Given the description of an element on the screen output the (x, y) to click on. 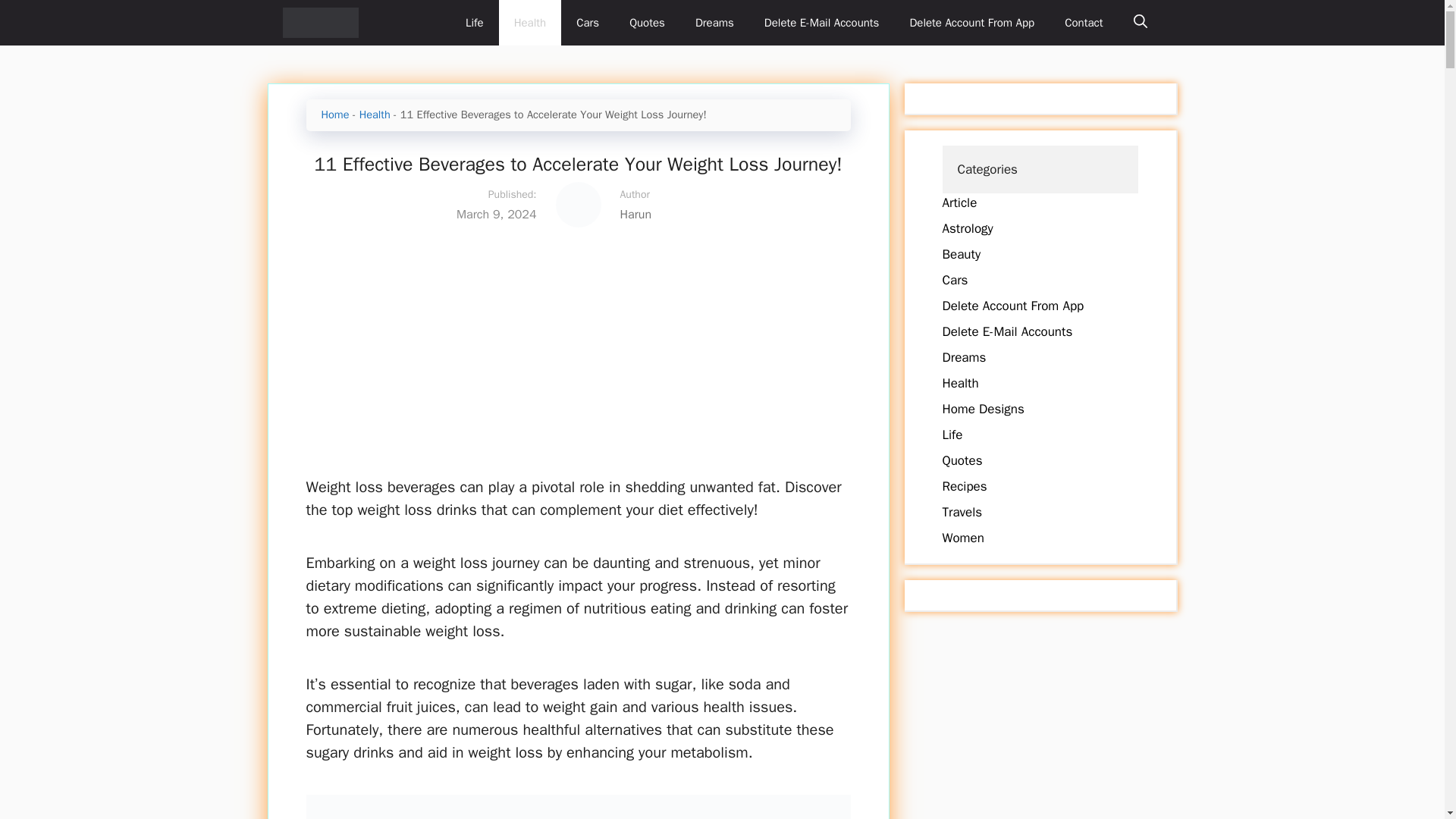
Delete Account From App (971, 22)
Life (952, 434)
Delete E-Mail Accounts (822, 22)
Home (335, 114)
Health (960, 383)
Contact (1083, 22)
Article (959, 202)
Cars (587, 22)
Quotes (646, 22)
Astrology (967, 228)
